Given the description of an element on the screen output the (x, y) to click on. 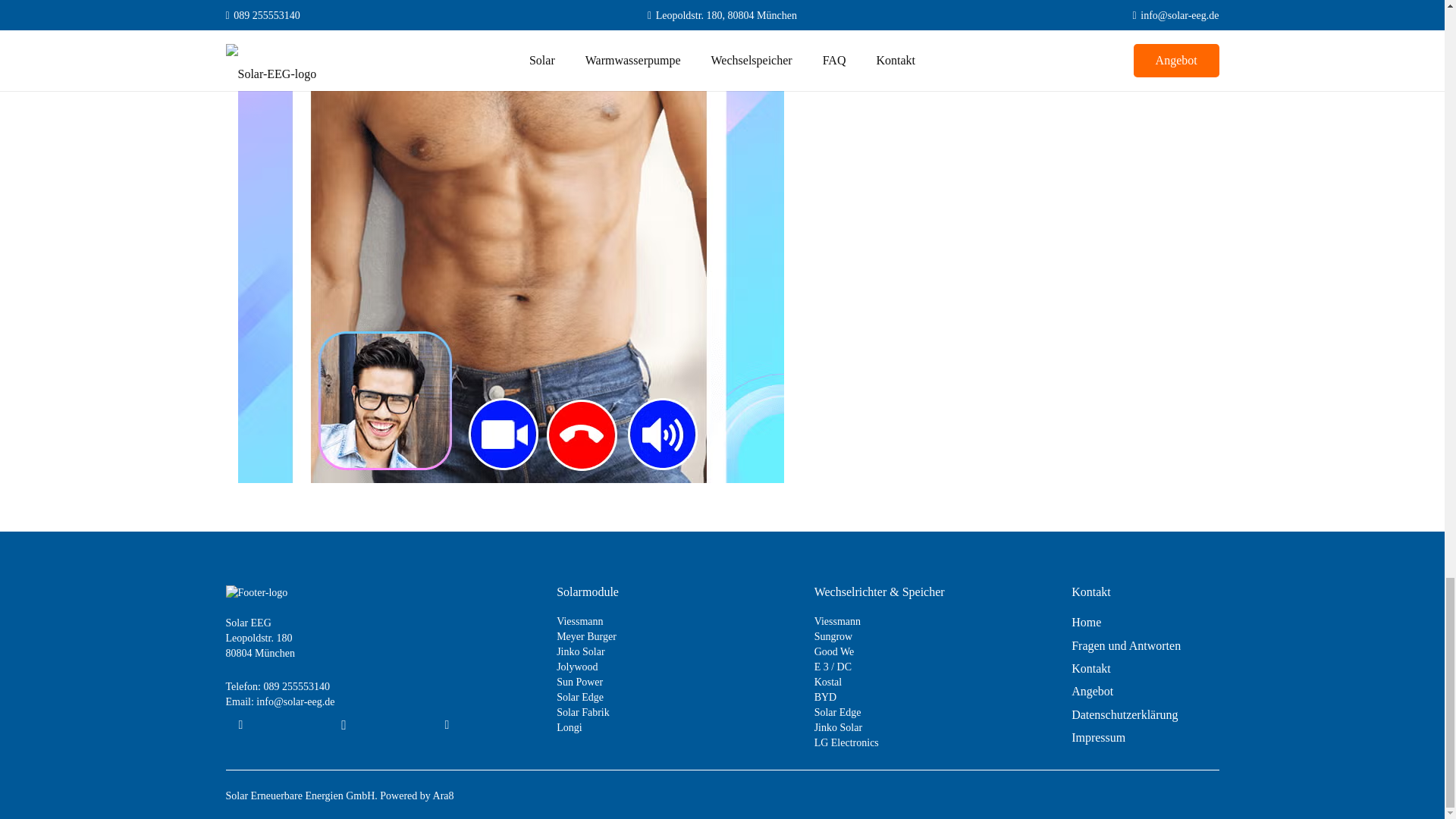
LG Electronics (846, 742)
Home (1085, 621)
Angebot (1092, 690)
Facebook (240, 725)
Impressum (1098, 737)
Fragen und Antworten (1125, 645)
Instagram (344, 725)
Meyer Burger (585, 636)
089 255553140 (296, 686)
Solar Edge (837, 712)
